Given the description of an element on the screen output the (x, y) to click on. 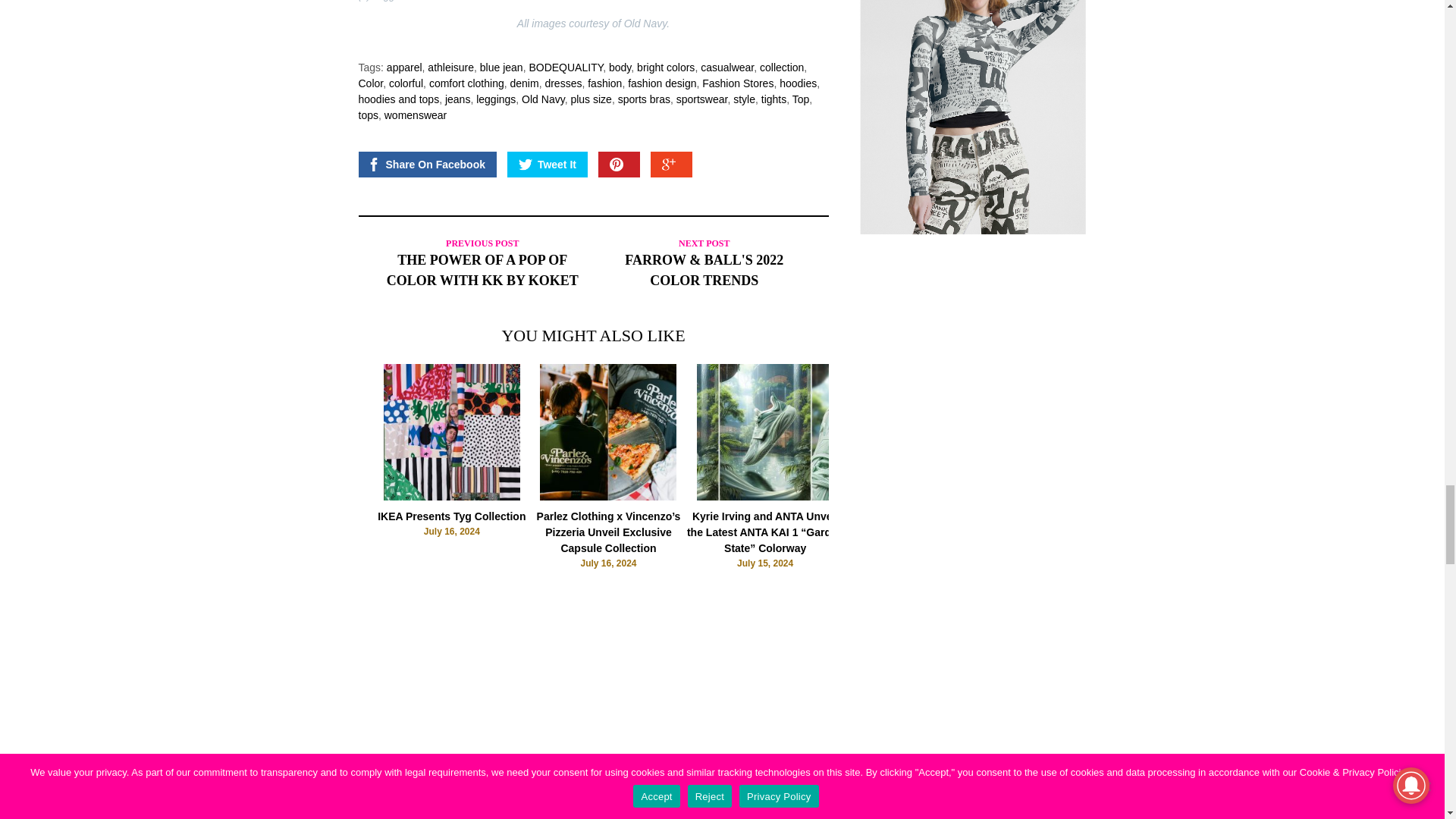
IKEA Presents Tyg Collection (451, 496)
